Given the description of an element on the screen output the (x, y) to click on. 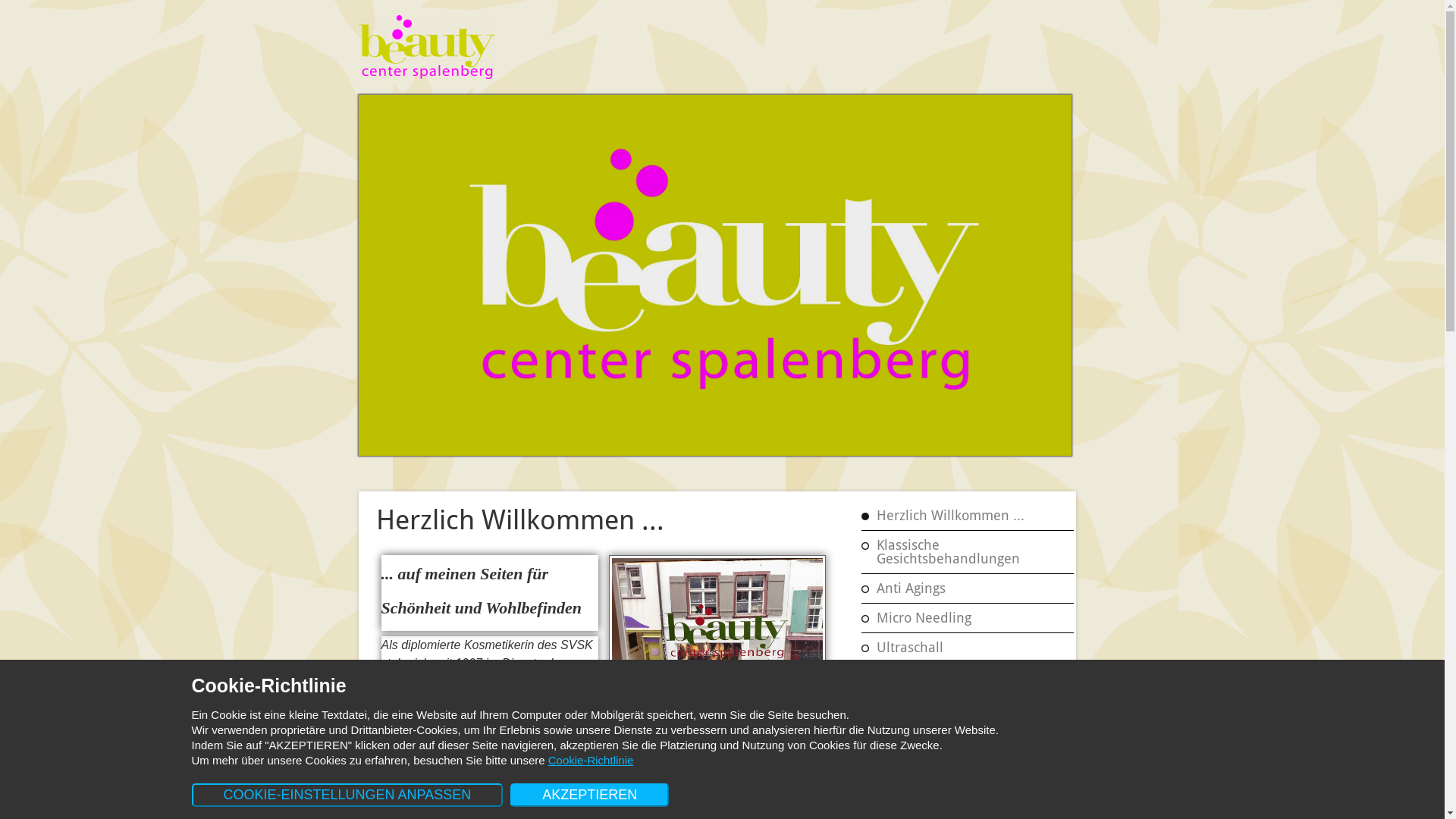
Cookie-Richtlinie Element type: text (590, 759)
AKZEPTIEREN Element type: text (589, 794)
Ultraschall Element type: text (971, 646)
Klassische Gesichtsbehandlungen Element type: text (971, 551)
COOKIE-EINSTELLUNGEN ANPASSEN Element type: text (346, 794)
Nadelepilation/Elektrolyse Element type: text (974, 734)
Sugaring Element type: text (974, 705)
Alle Haarentfernungen Element type: text (971, 677)
Micro Needling Element type: text (971, 617)
Herzlich Willkommen ... Element type: text (971, 514)
Zusatzpflegen Element type: text (971, 801)
Anti Agings Element type: text (971, 587)
